Given the description of an element on the screen output the (x, y) to click on. 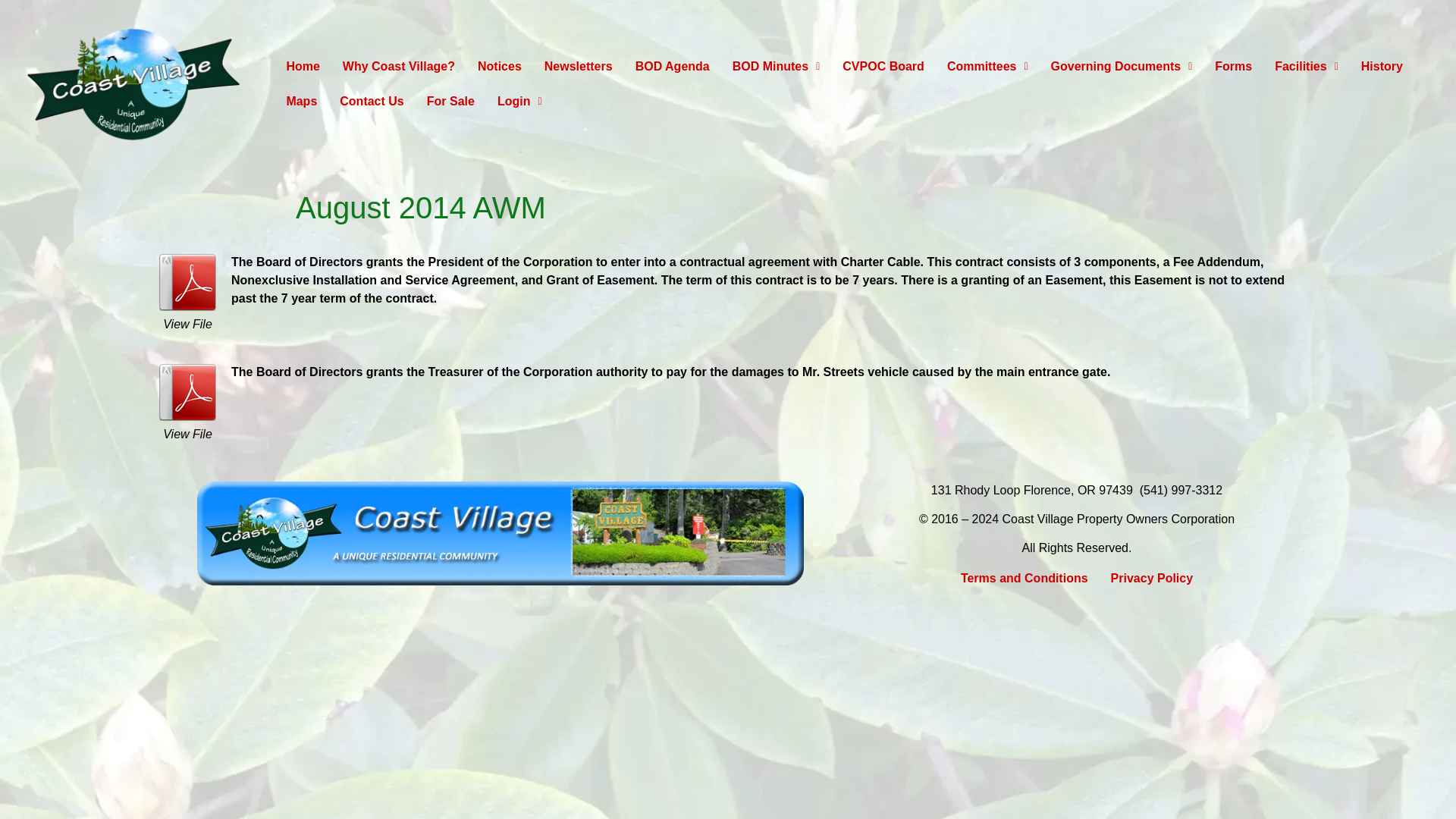
Newsletters (746, 189)
Login (519, 101)
Why Coast Village? (745, 185)
CVPOC Board (807, 193)
Maps (302, 101)
For Sale (450, 101)
Committees (846, 173)
History (1381, 66)
BOD Agenda (761, 192)
BOD Minutes (782, 196)
